Given the description of an element on the screen output the (x, y) to click on. 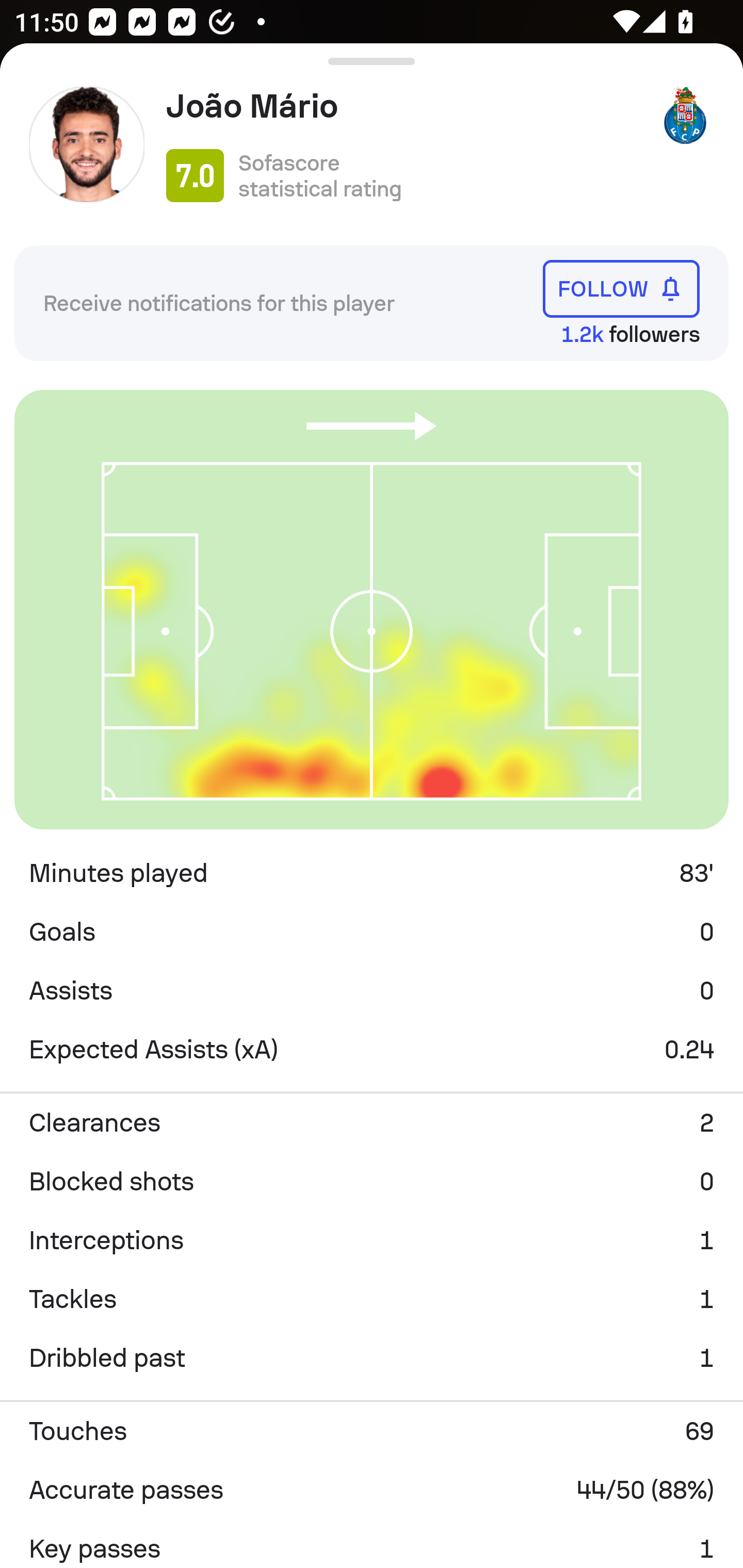
João Mário (403, 105)
FOLLOW (621, 289)
Minutes played 83' (371, 873)
Goals 0 (371, 932)
Assists 0 (371, 990)
Expected Assists (xA) 0.24 (371, 1049)
Clearances 2 (371, 1122)
Blocked shots 0 (371, 1181)
Interceptions 1 (371, 1240)
Tackles 1 (371, 1299)
Dribbled past 1 (371, 1357)
Touches 69 (371, 1431)
Accurate passes 44/50 (88%) (371, 1490)
Key passes 1 (371, 1543)
